Given the description of an element on the screen output the (x, y) to click on. 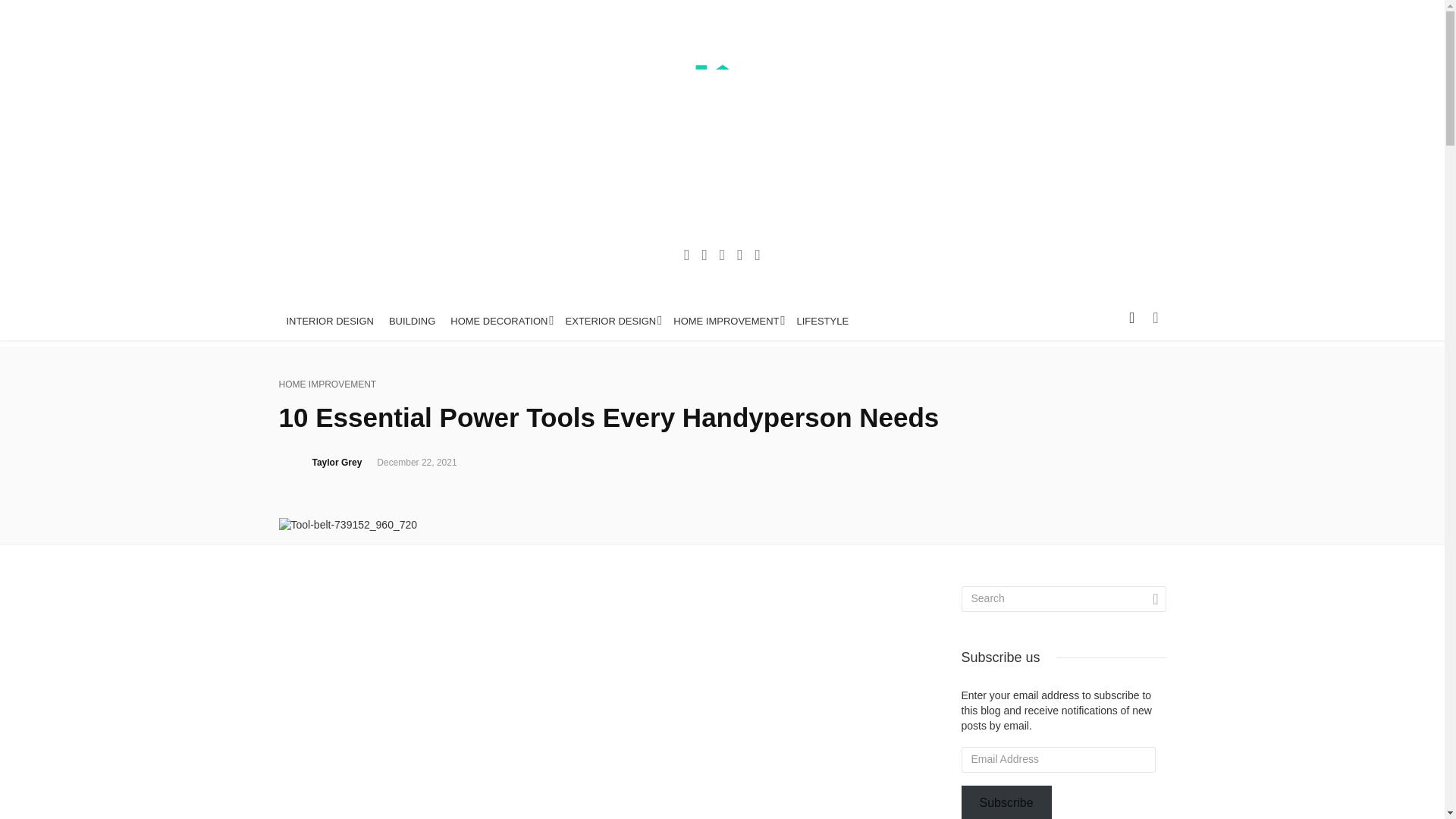
INTERIOR DESIGN (330, 320)
HOME IMPROVEMENT (727, 320)
BUILDING (411, 320)
HOME DECORATION (499, 320)
LIFESTYLE (823, 320)
HOME IMPROVEMENT (328, 384)
Taylor Grey (337, 462)
EXTERIOR DESIGN (611, 320)
December 22, 2021 at 1:44 pm (417, 462)
